Given the description of an element on the screen output the (x, y) to click on. 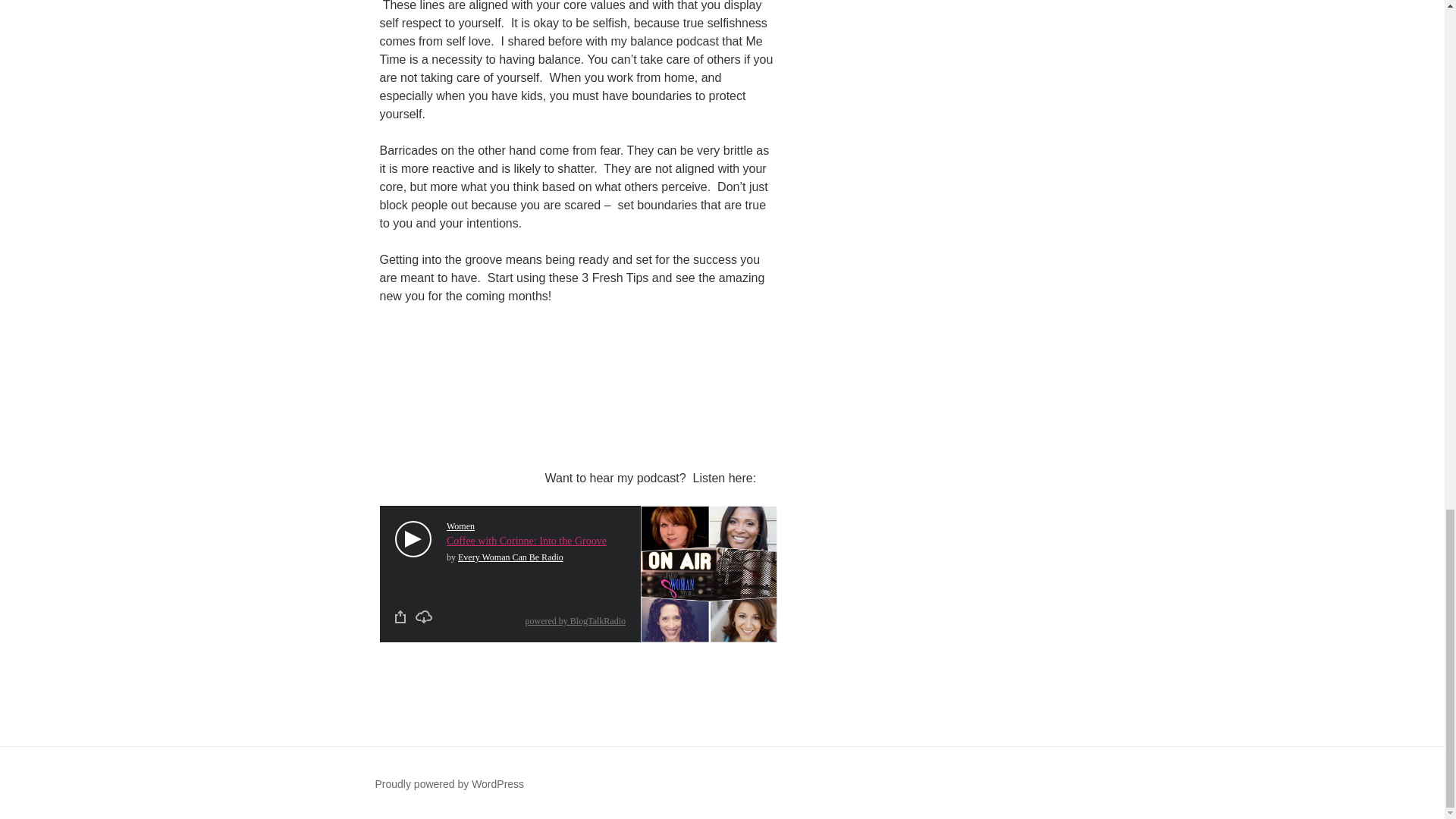
Proudly powered by WordPress (449, 784)
